Given the description of an element on the screen output the (x, y) to click on. 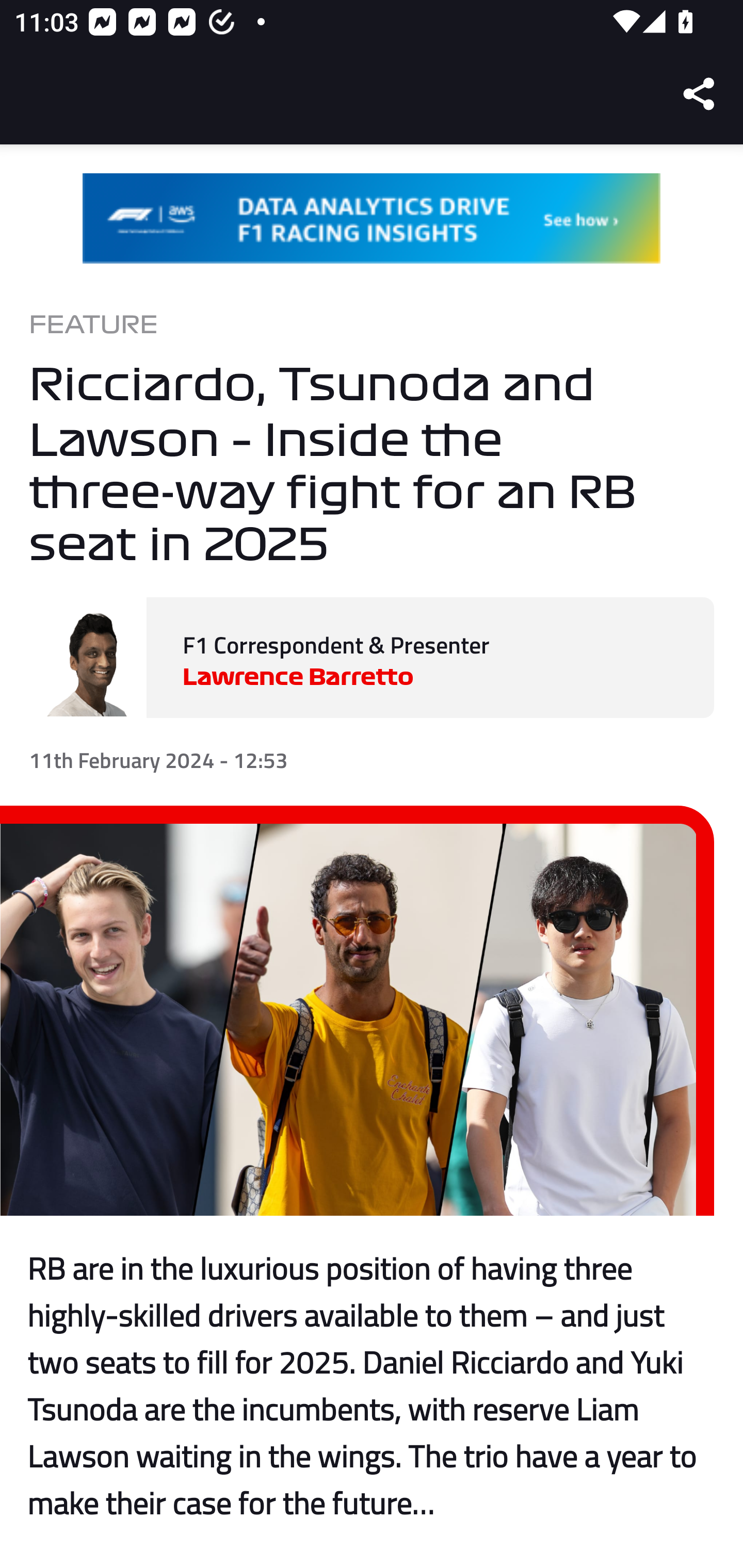
Share (699, 93)
